Given the description of an element on the screen output the (x, y) to click on. 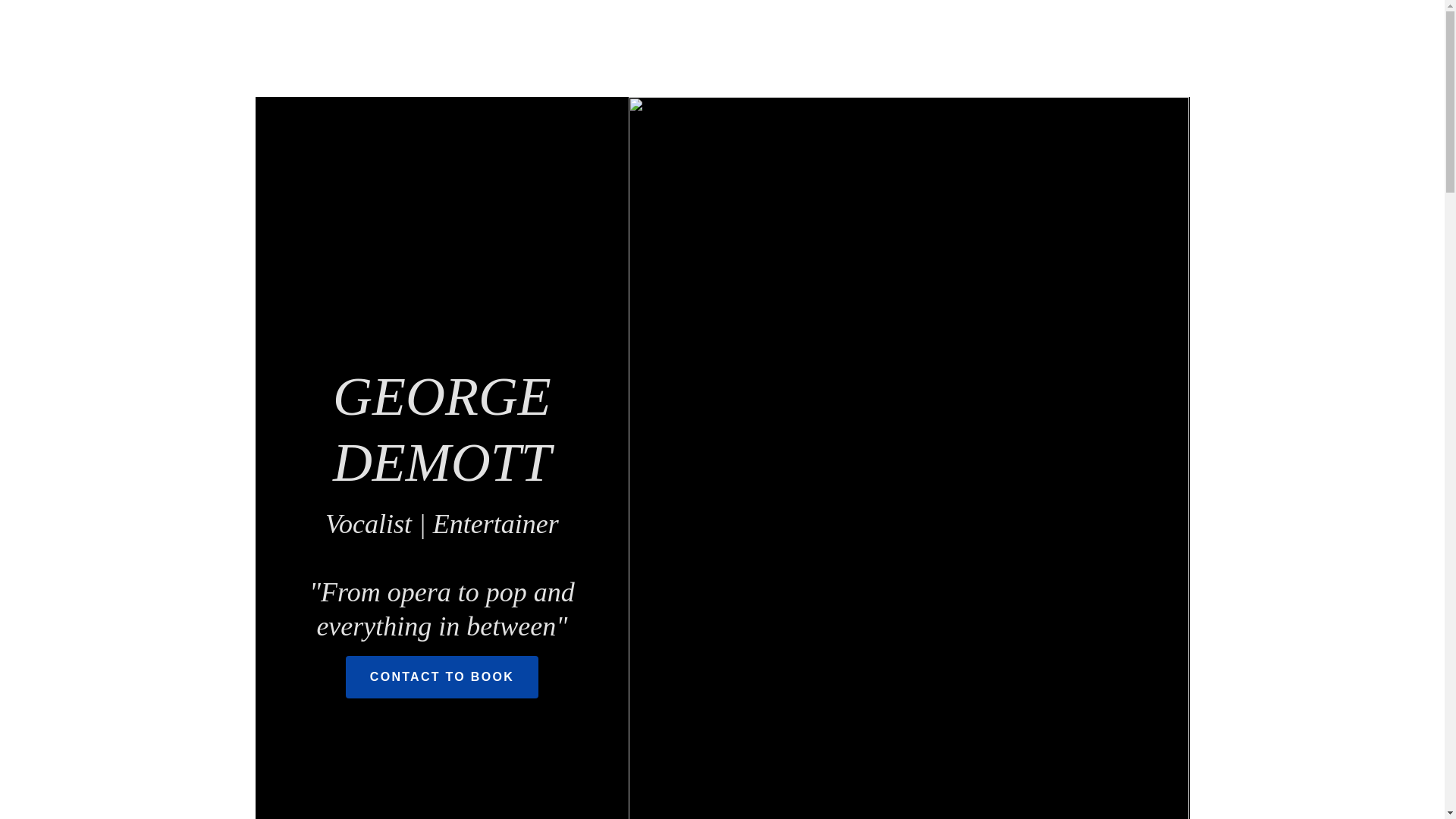
CONTACT TO BOOK (442, 677)
GEORGE DEMOTT (441, 476)
GEORGE DEMOTT (441, 476)
